Given the description of an element on the screen output the (x, y) to click on. 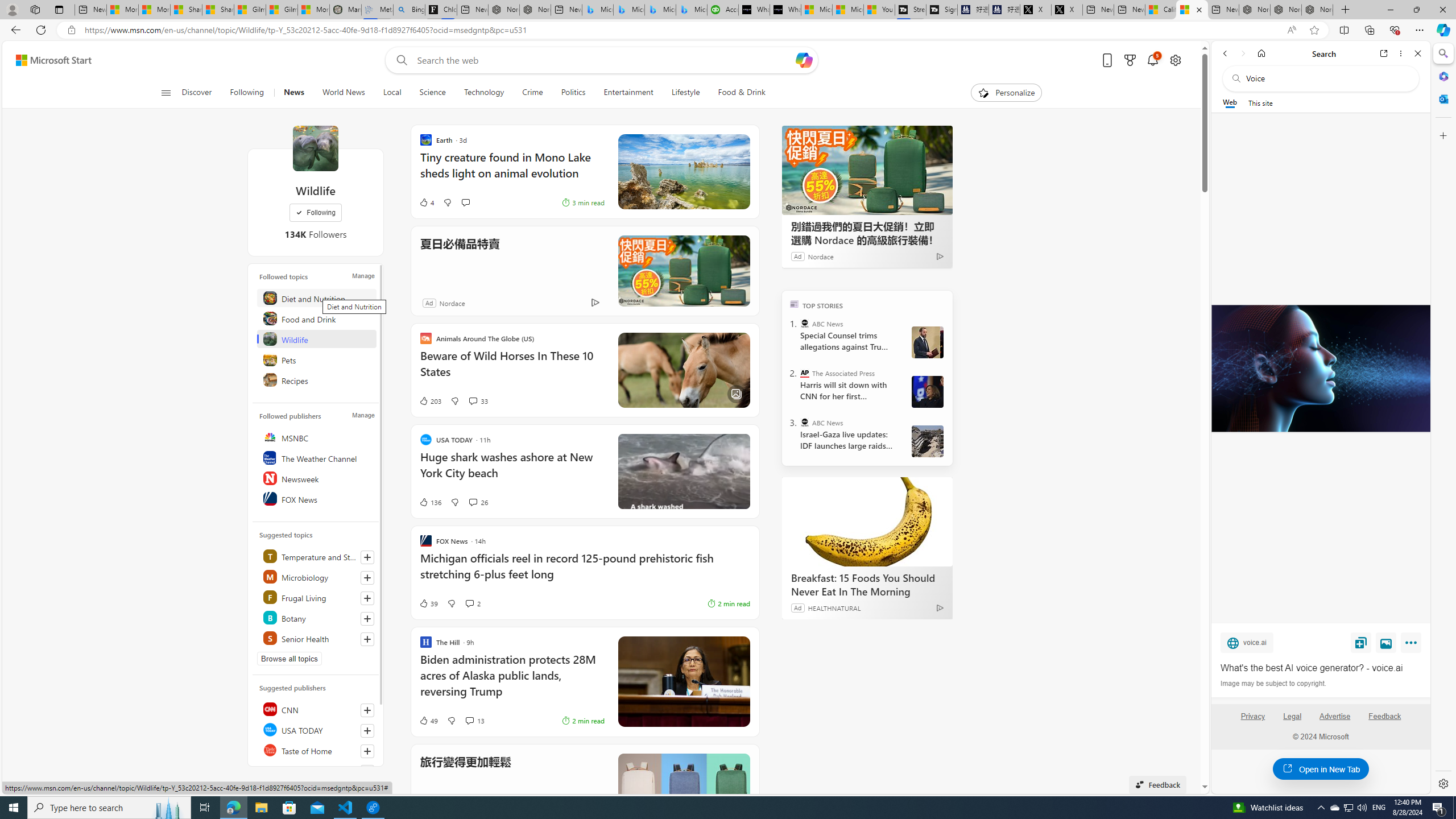
Open settings (1175, 60)
Customize (1442, 135)
World News (343, 92)
Open link in new tab (1383, 53)
Outlook (1442, 98)
View comments 13 Comment (474, 720)
voice.ai (1247, 642)
Open in New Tab (1321, 768)
Breakfast: 15 Foods You Should Never Eat In The Morning (866, 521)
